Given the description of an element on the screen output the (x, y) to click on. 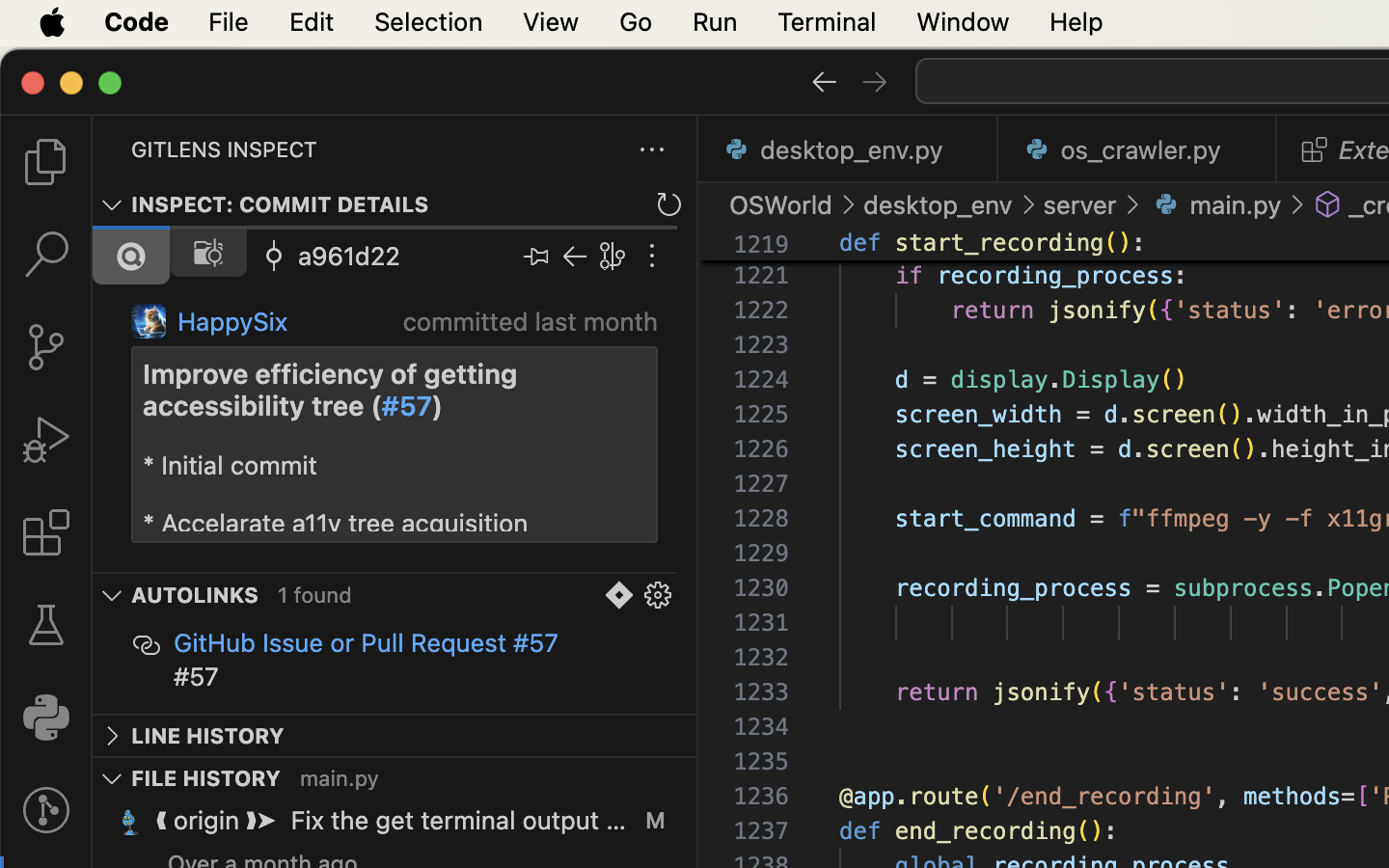
 Element type: AXStaticText (535, 256)
 Element type: AXGroup (46, 532)
INSPECT: COMMIT DETAILS Element type: AXStaticText (280, 204)
0  Element type: AXRadioButton (46, 161)
server Element type: AXGroup (1079, 204)
